Given the description of an element on the screen output the (x, y) to click on. 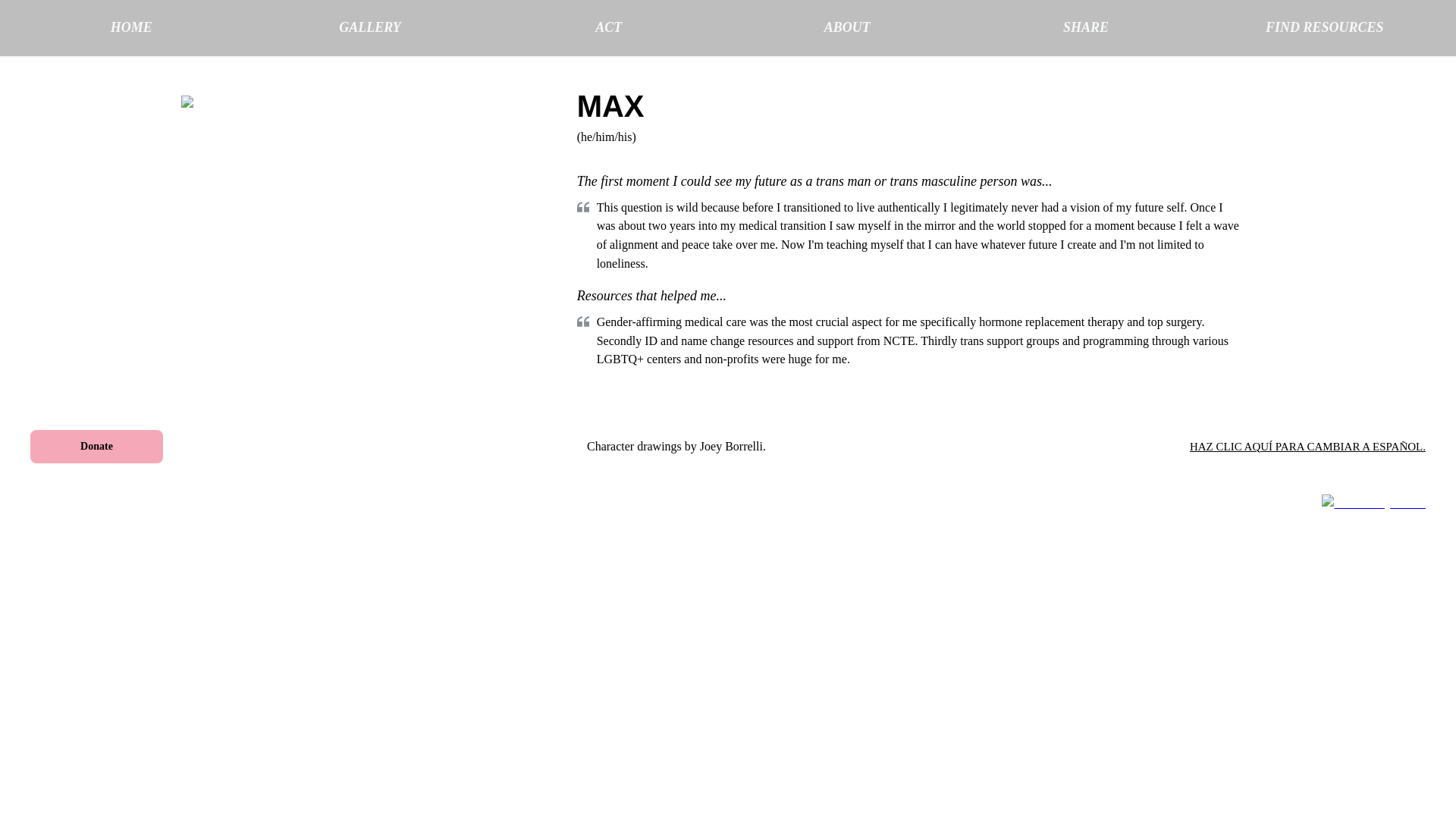
ABOUT (847, 28)
GALLERY (369, 28)
ACT (608, 28)
SHARE (1085, 28)
FIND RESOURCES (1324, 28)
HOME (130, 28)
Donate (96, 446)
